Given the description of an element on the screen output the (x, y) to click on. 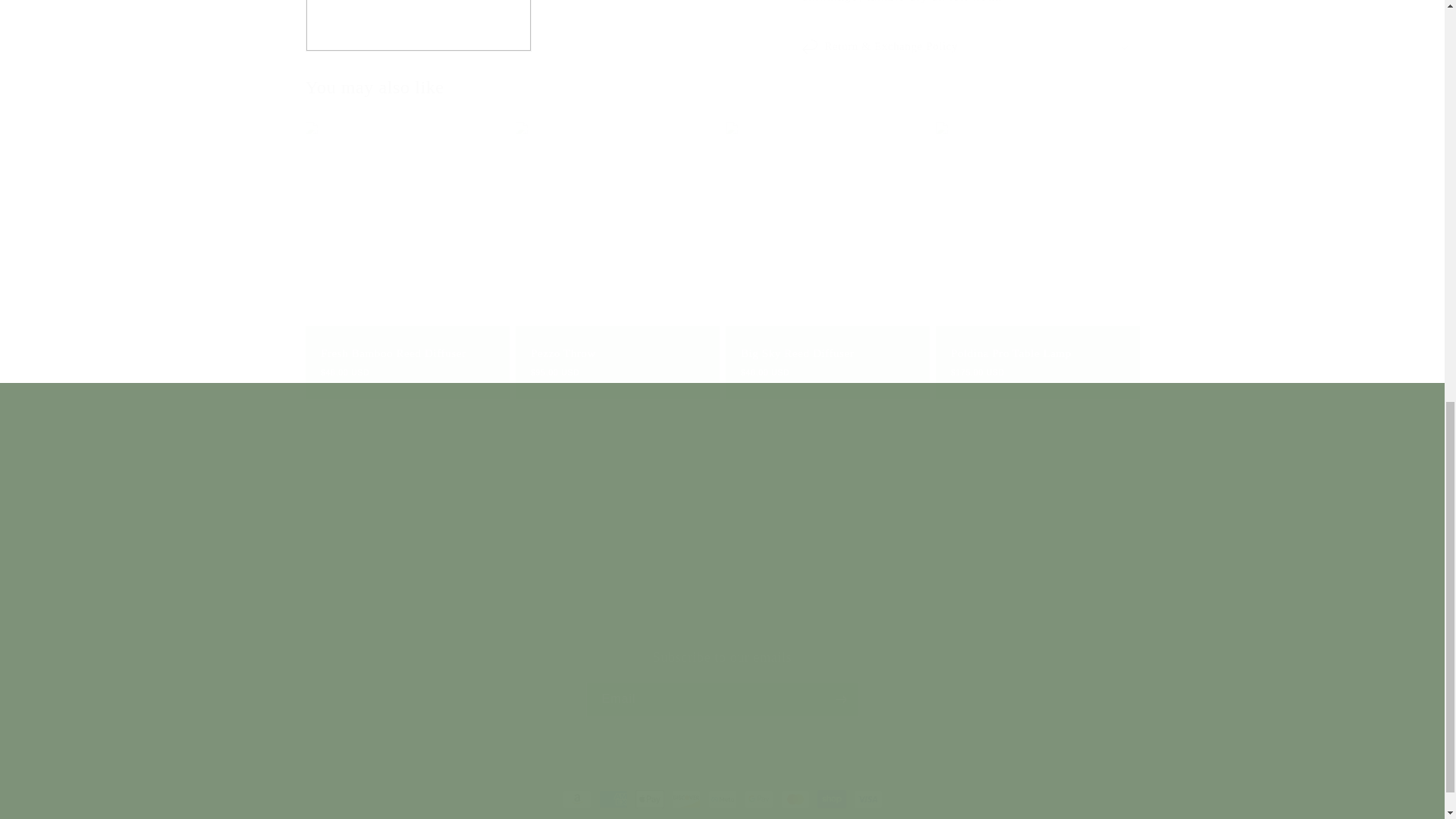
Call us (907, 595)
Email us (933, 574)
Open media 2 in modal (721, 683)
